Given the description of an element on the screen output the (x, y) to click on. 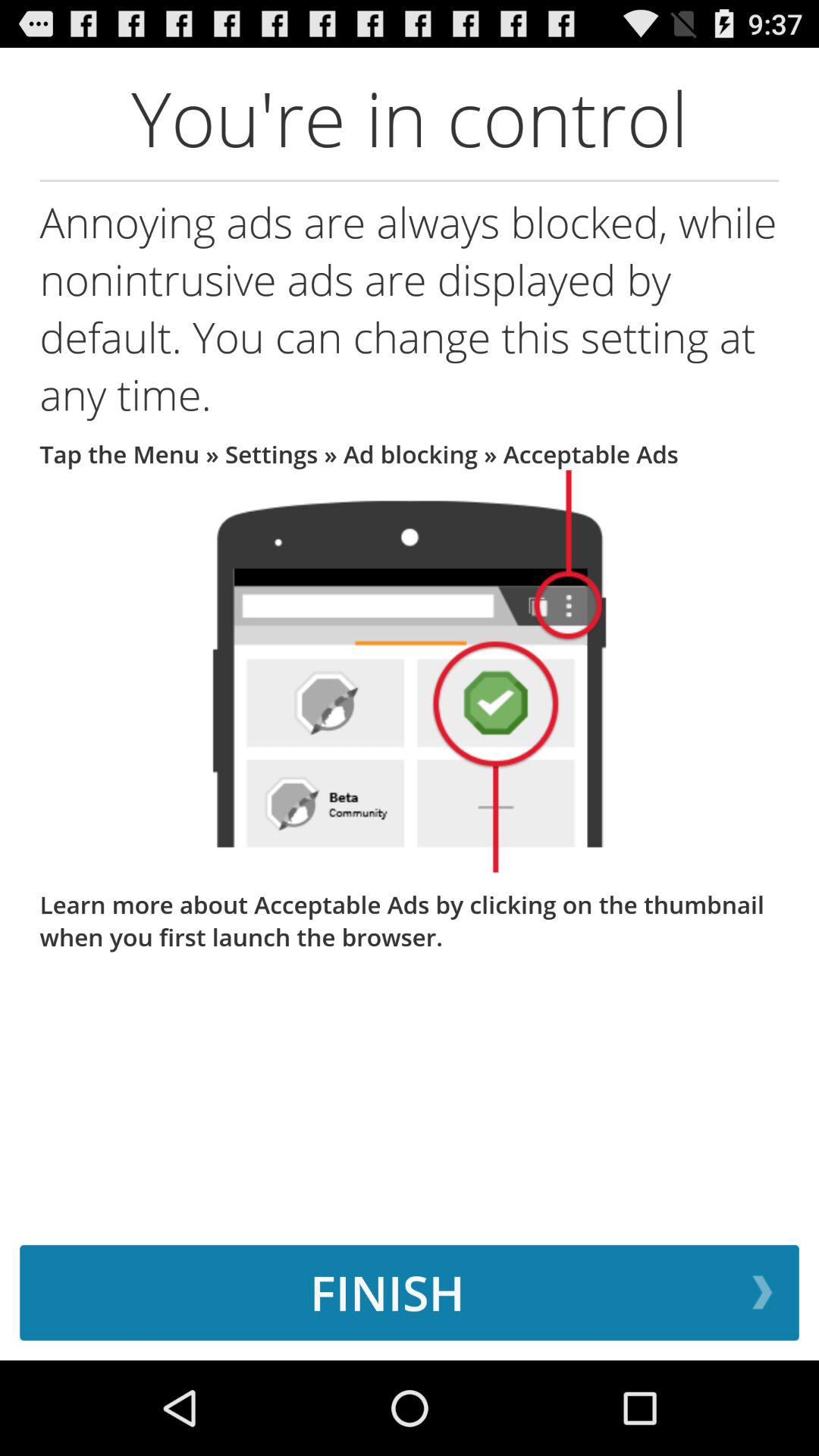
swipe until the finish icon (409, 1292)
